Given the description of an element on the screen output the (x, y) to click on. 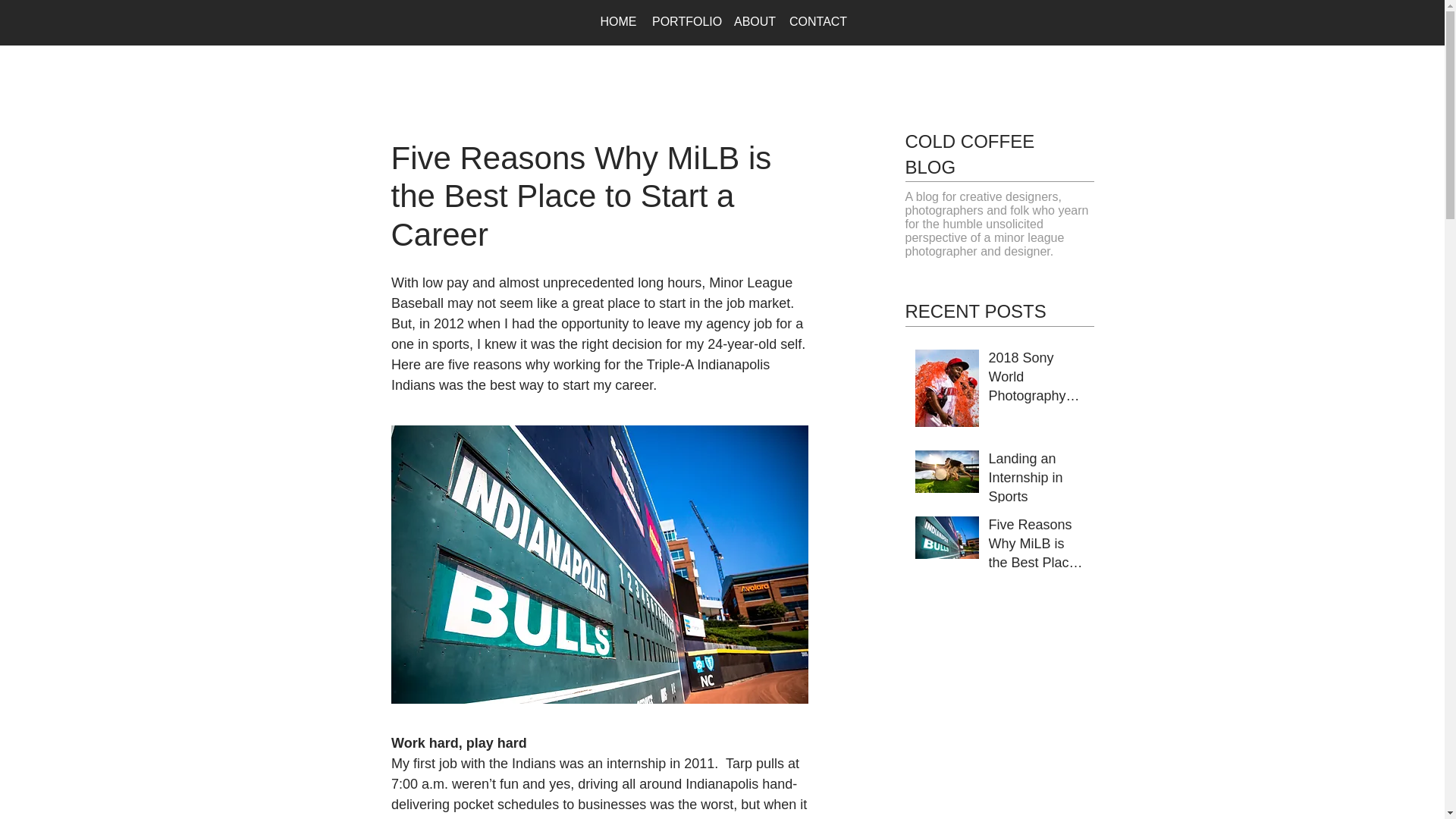
COLD COFFEE BLOG (970, 154)
Five Reasons Why MiLB is the Best Place to Start a Career (1036, 547)
PORTFOLIO (685, 21)
HOME (618, 21)
2018 Sony World Photography Awards (1036, 380)
ABOUT (753, 21)
Landing an Internship in Sports (1036, 481)
CONTACT (816, 21)
